Given the description of an element on the screen output the (x, y) to click on. 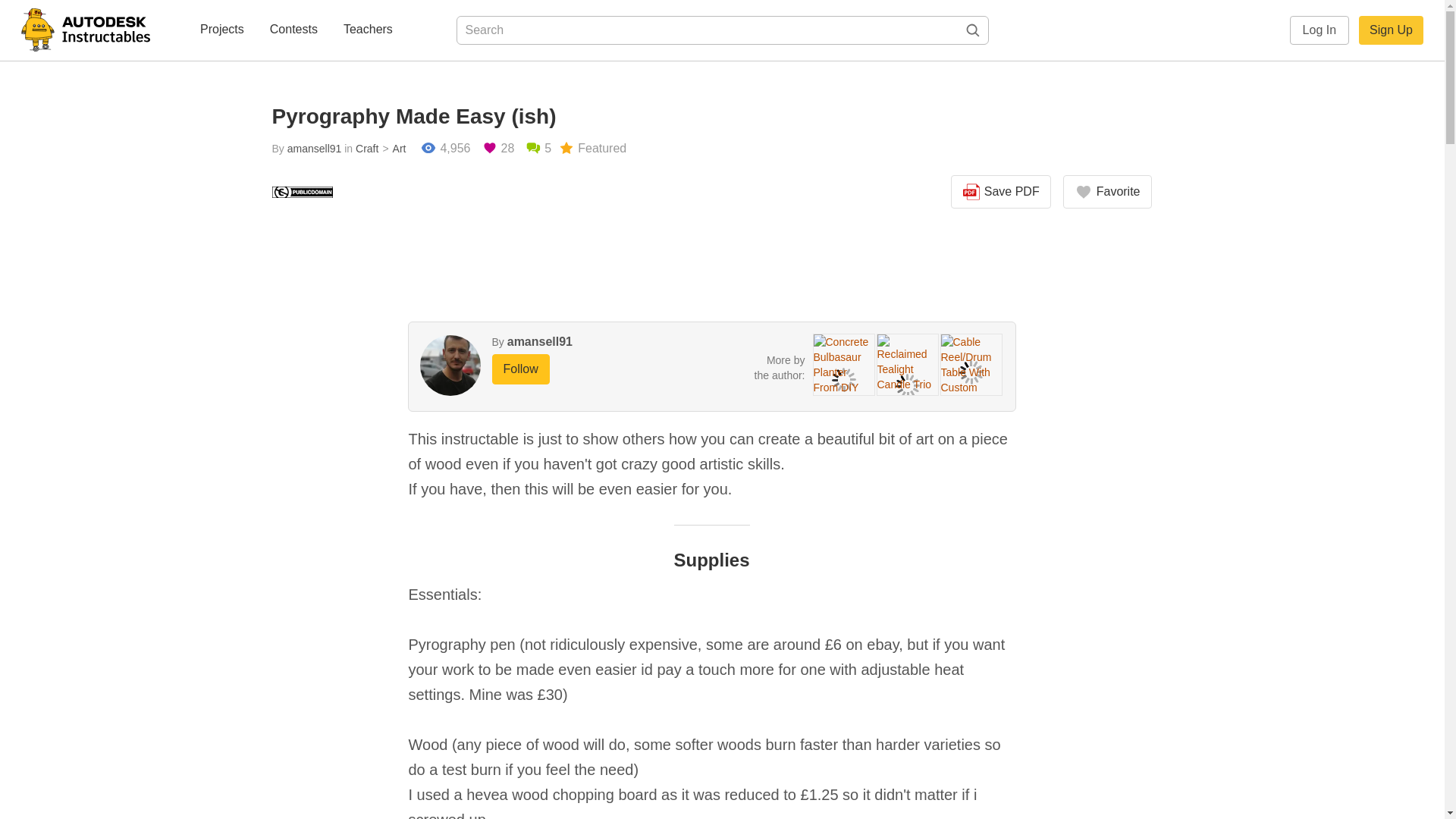
Contests (293, 30)
Art (392, 148)
5 (538, 148)
Log In (1319, 30)
Follow (520, 368)
More by the author: (779, 366)
Save PDF (1000, 191)
amansell91 (314, 148)
Projects (221, 30)
Sign Up (1390, 30)
amansell91 (539, 341)
Favorite (1106, 191)
Teachers (368, 30)
Craft (366, 148)
